Given the description of an element on the screen output the (x, y) to click on. 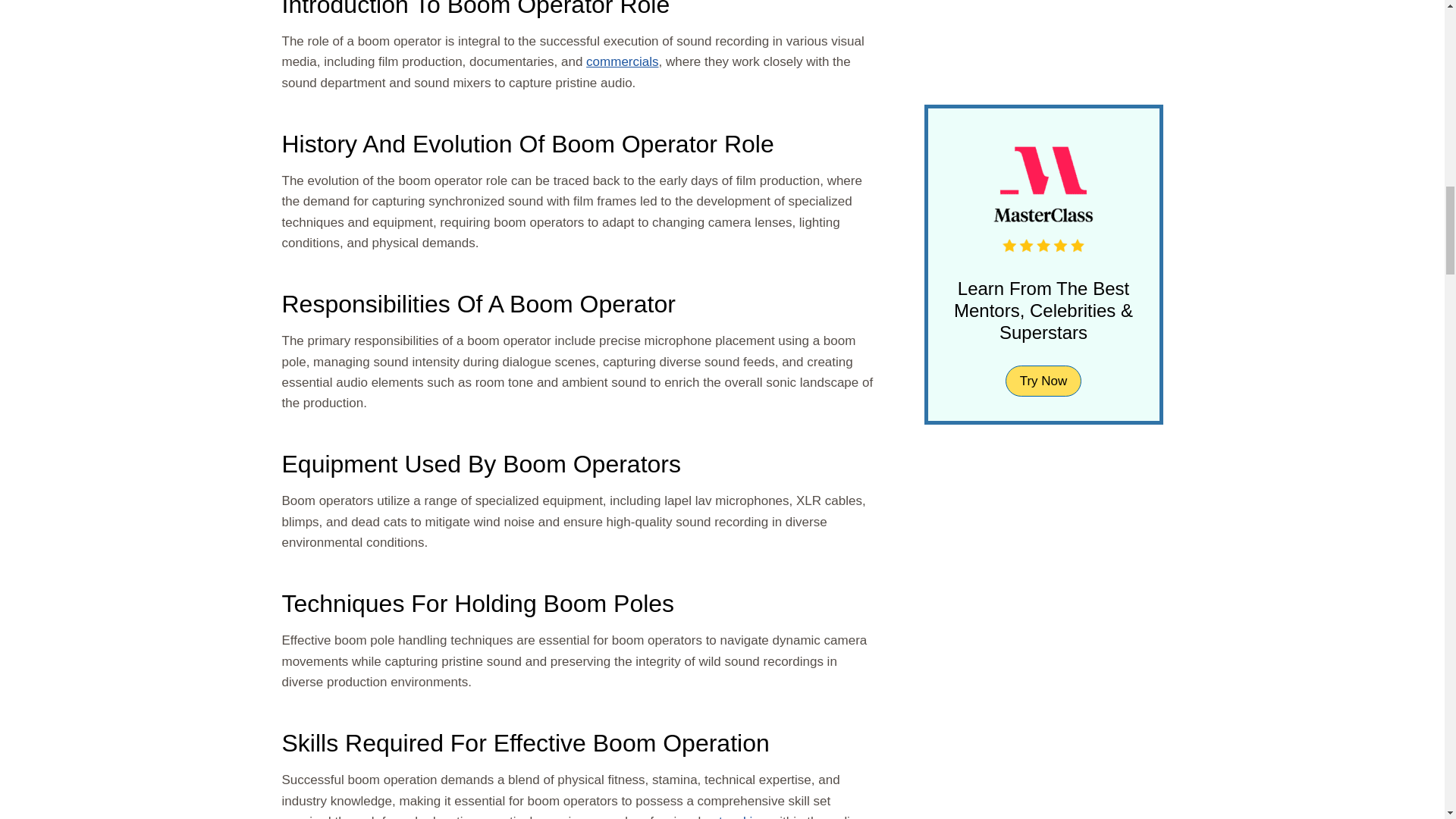
commercials (622, 61)
networking (735, 816)
